Given the description of an element on the screen output the (x, y) to click on. 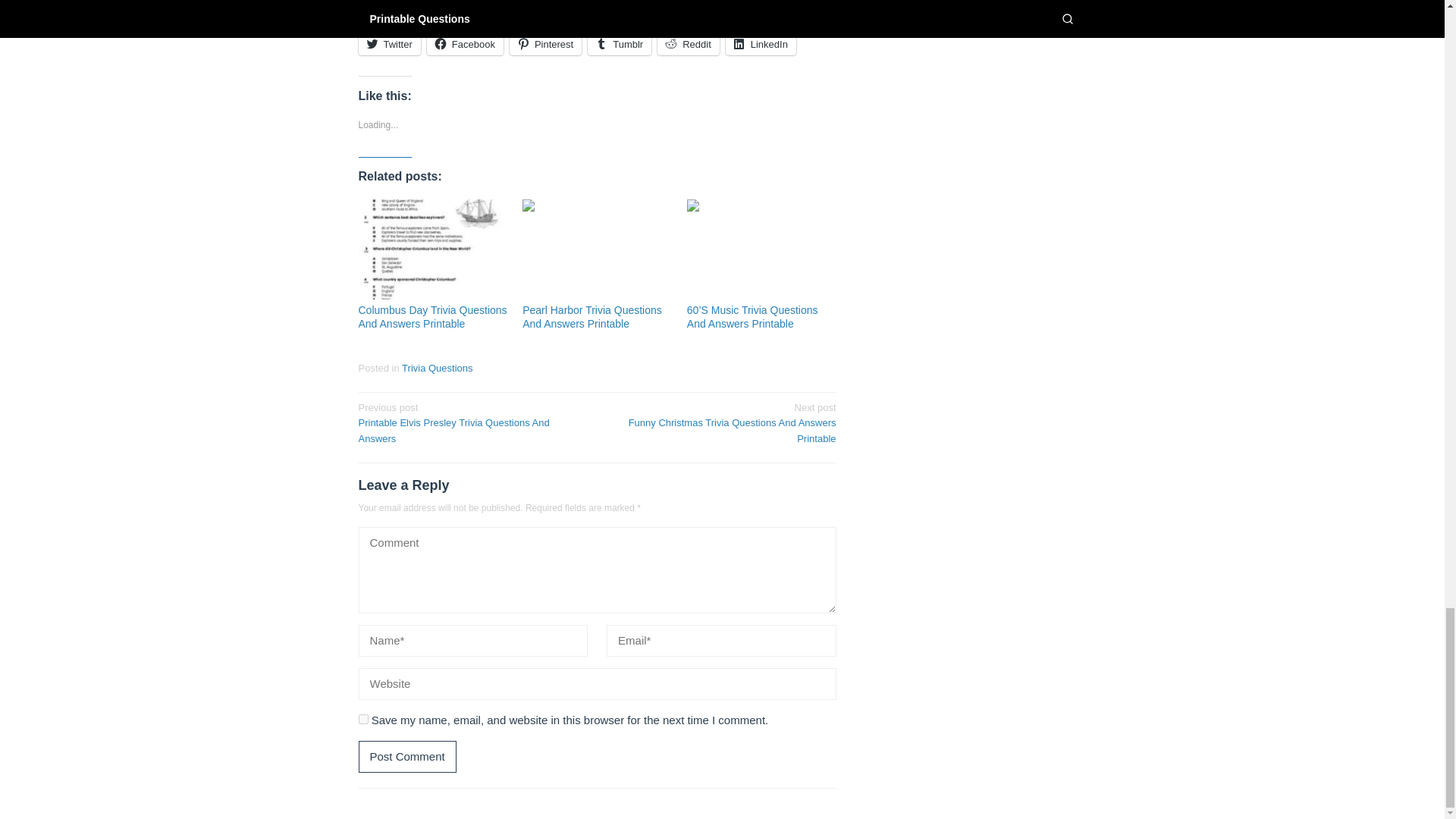
Click to share on Twitter (389, 43)
Reddit (688, 43)
Columbus Day Trivia Questions And Answers Printable (432, 316)
Click to share on Facebook (464, 43)
Trivia Questions (436, 367)
LinkedIn (760, 43)
Pearl Harbor Trivia Questions And Answers Printable (592, 316)
Click to share on Pinterest (544, 43)
yes (363, 718)
Facebook (464, 43)
